Given the description of an element on the screen output the (x, y) to click on. 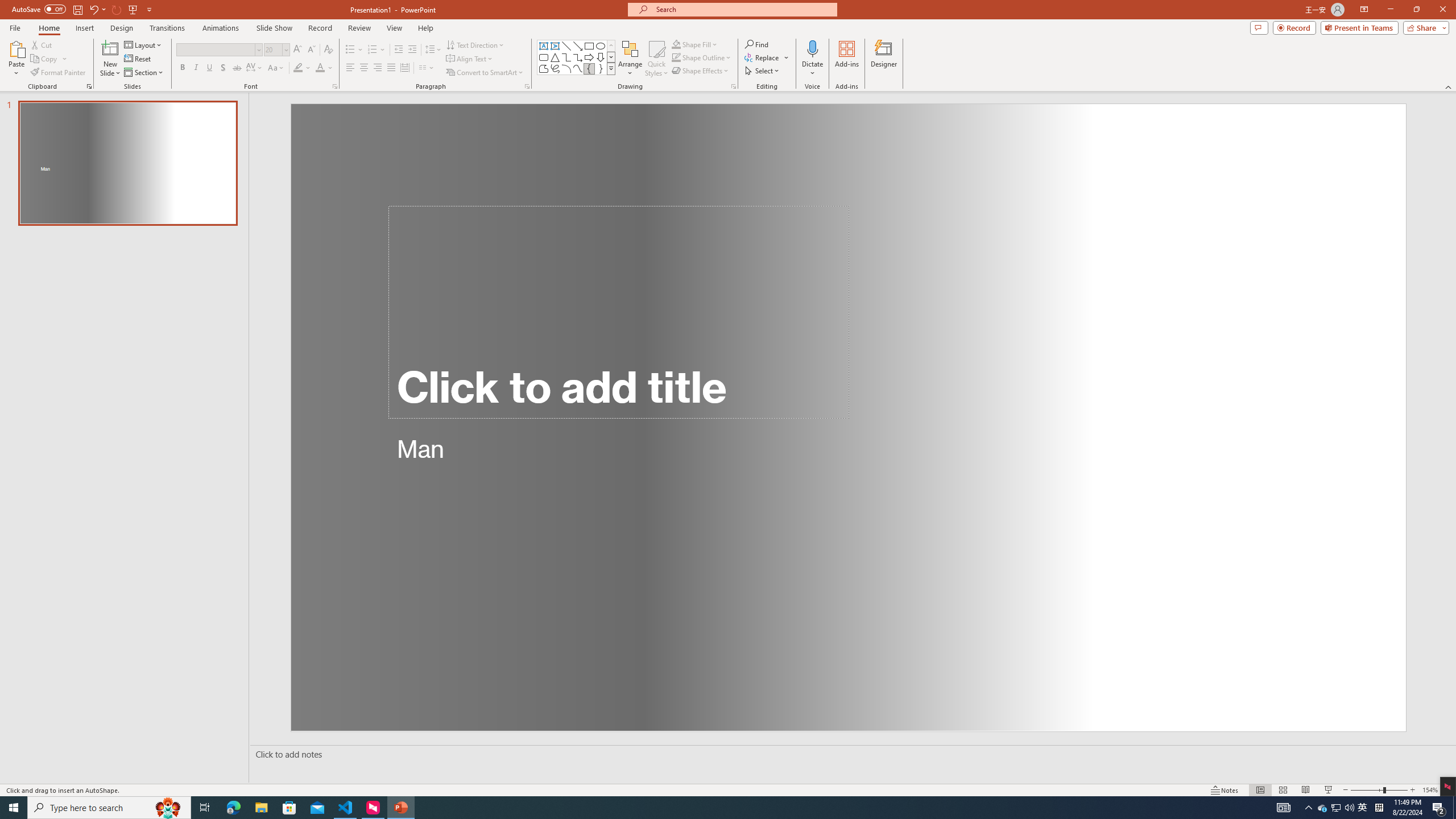
Layout (143, 44)
AutomationID: ShapesInsertGallery (576, 57)
Text Direction (476, 44)
Select (762, 69)
